Given the description of an element on the screen output the (x, y) to click on. 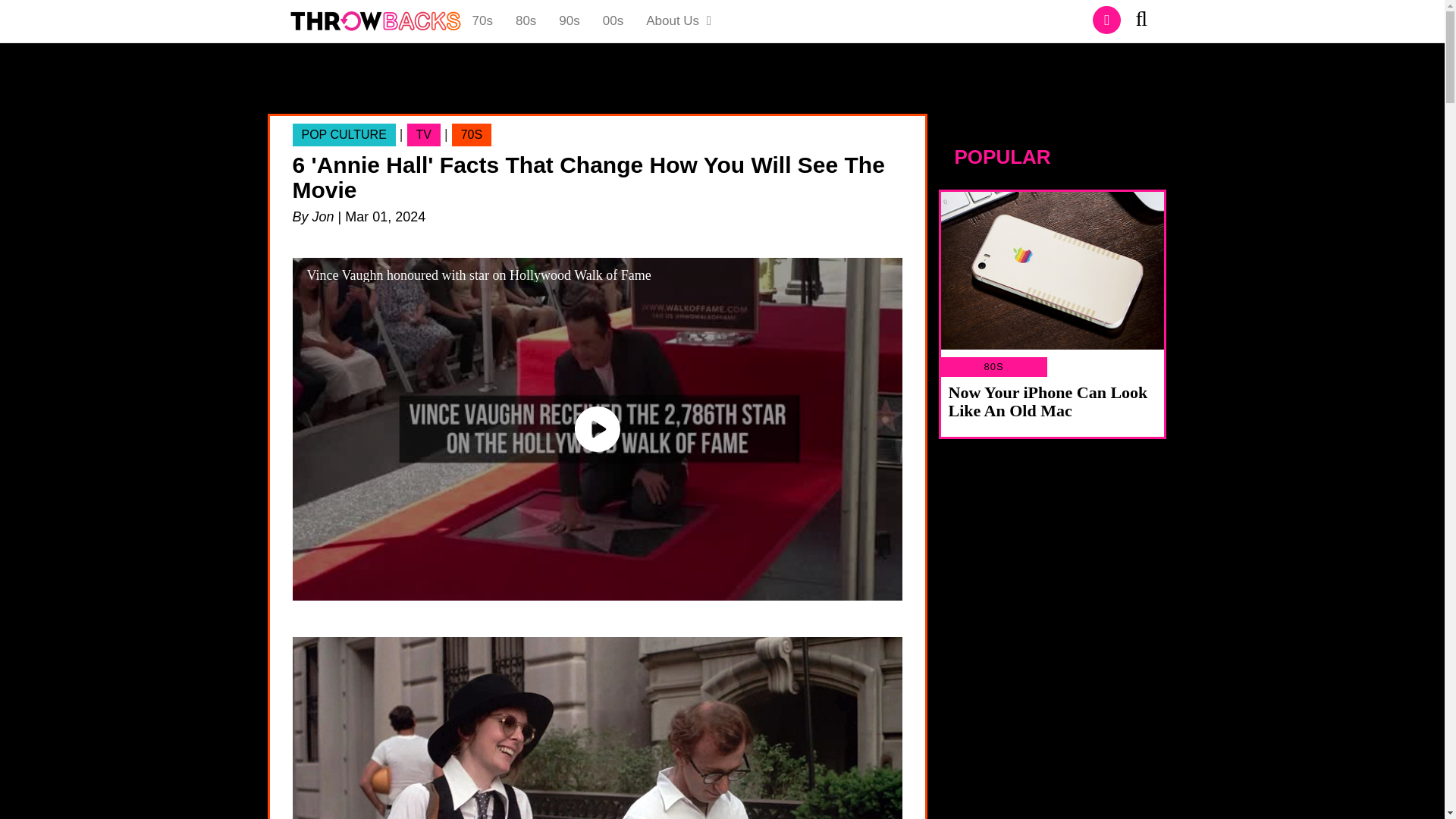
90s (569, 21)
70s (482, 21)
About Us (679, 21)
POP CULTURE (344, 134)
80s (525, 21)
TV (424, 134)
00s (612, 21)
Jon's Profile (323, 216)
facebook (1107, 19)
